Given the description of an element on the screen output the (x, y) to click on. 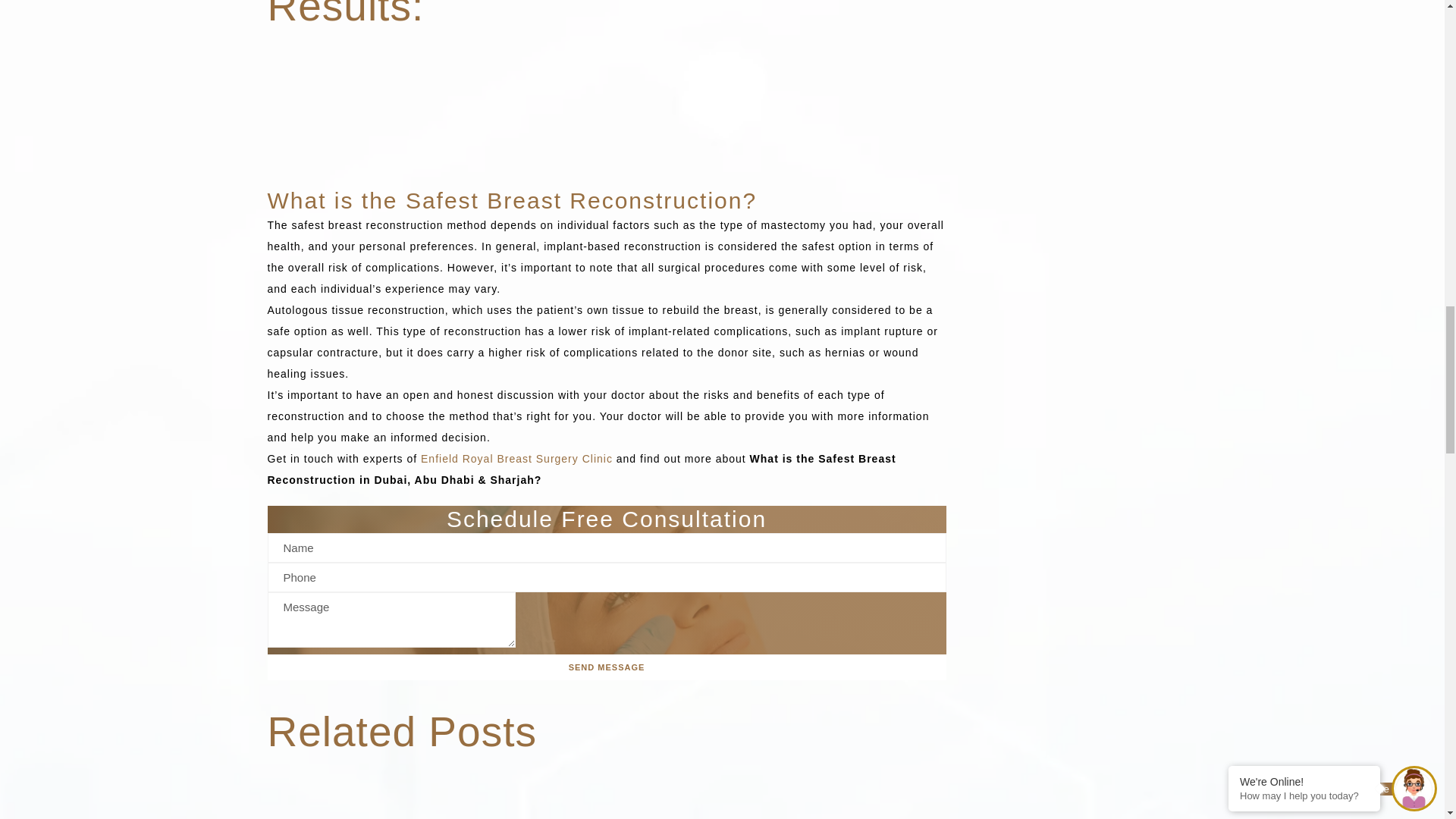
Send Message (605, 667)
